Given the description of an element on the screen output the (x, y) to click on. 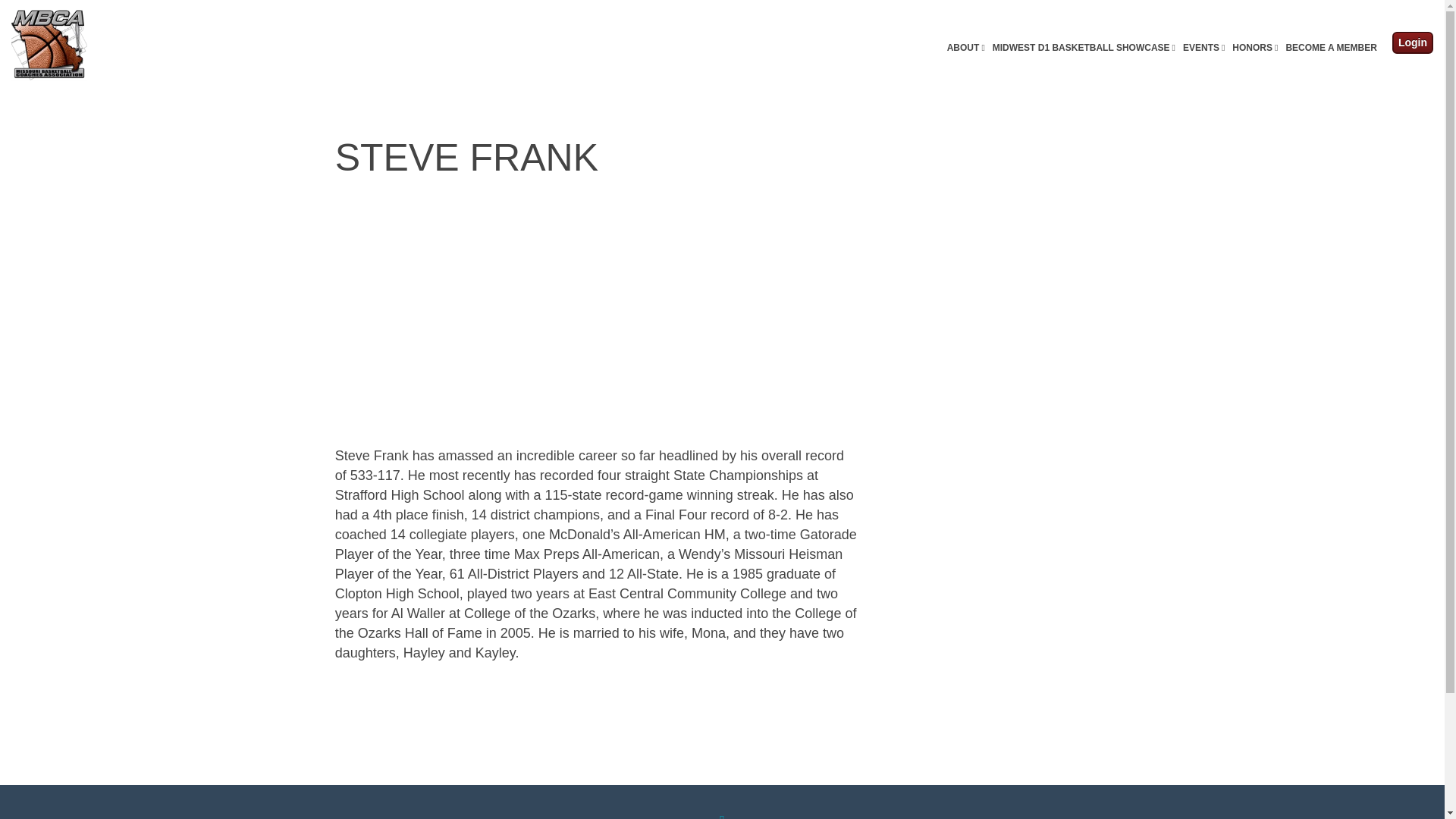
Login (1411, 42)
EVENTS (1203, 47)
HONORS (1254, 47)
Login (1411, 42)
MIDWEST D1 BASKETBALL SHOWCASE (1083, 47)
ABOUT (965, 47)
